Given the description of an element on the screen output the (x, y) to click on. 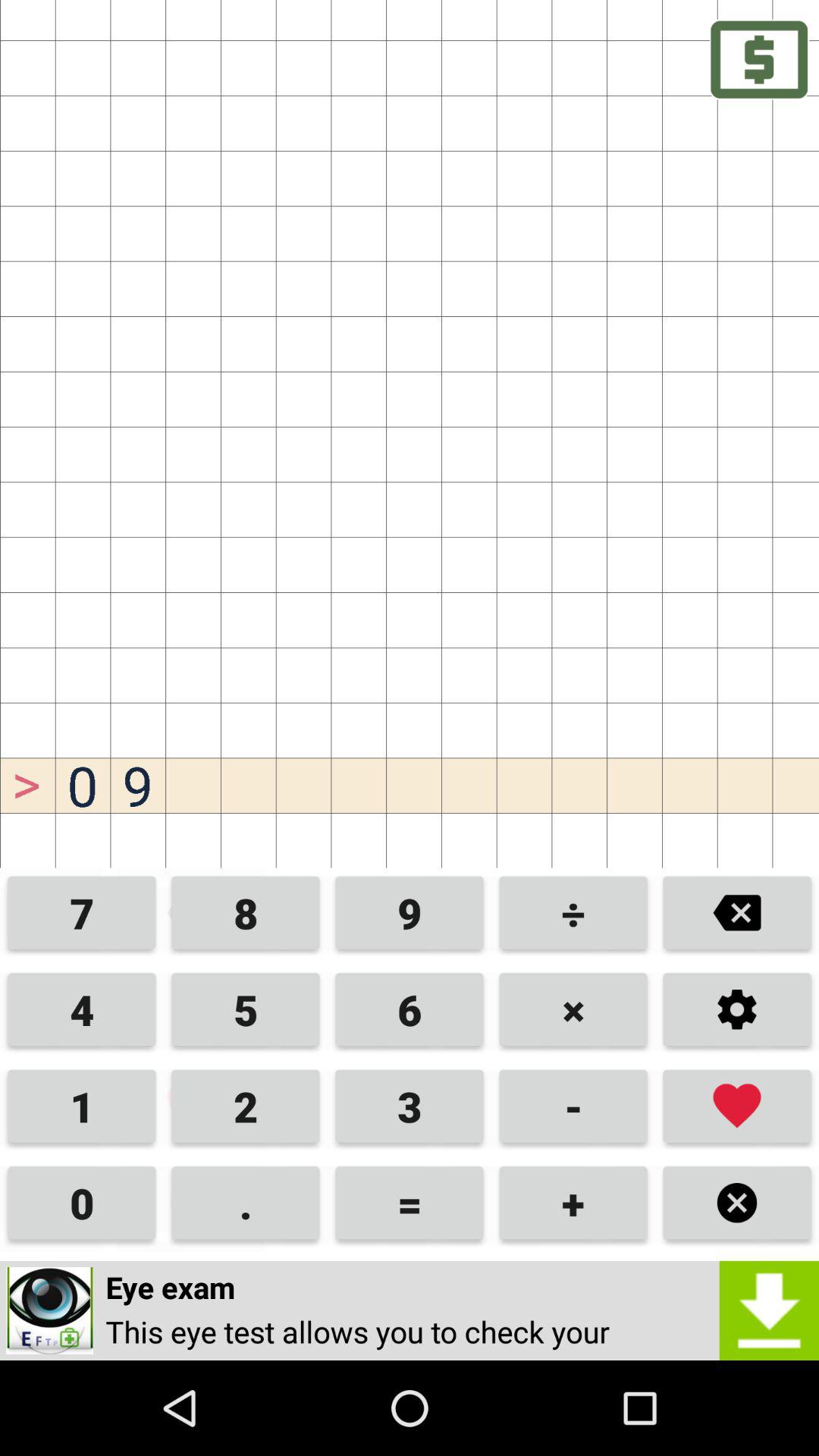
input heart stick (737, 1105)
